Given the description of an element on the screen output the (x, y) to click on. 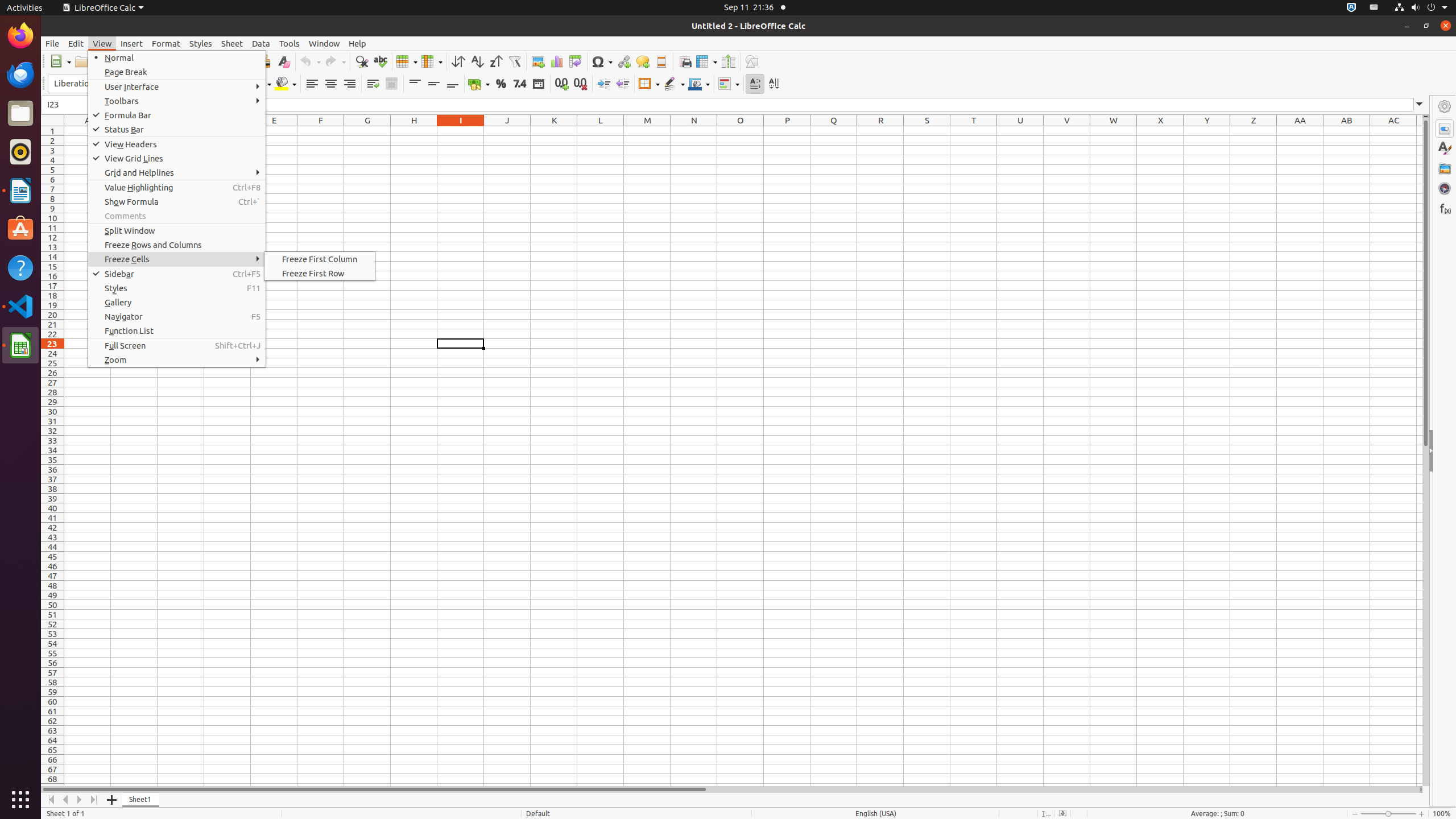
Tools Element type: menu (289, 43)
Move To Home Element type: push-button (51, 799)
Properties Element type: panel (1444, 450)
Sheet1 Element type: page-tab (140, 799)
Spelling Element type: push-button (379, 61)
